Given the description of an element on the screen output the (x, y) to click on. 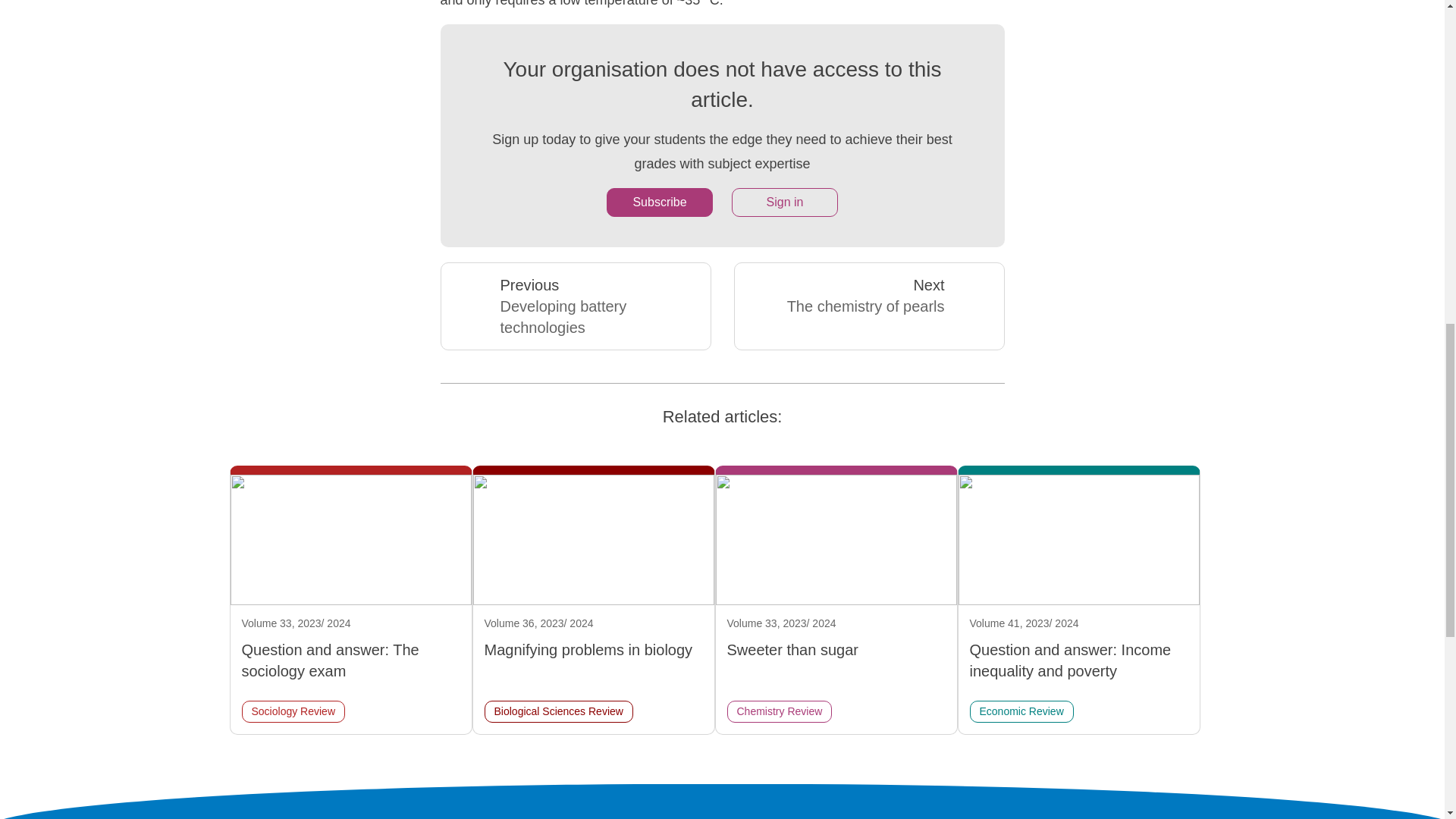
Sign in (785, 202)
Subscribe (660, 202)
